Given the description of an element on the screen output the (x, y) to click on. 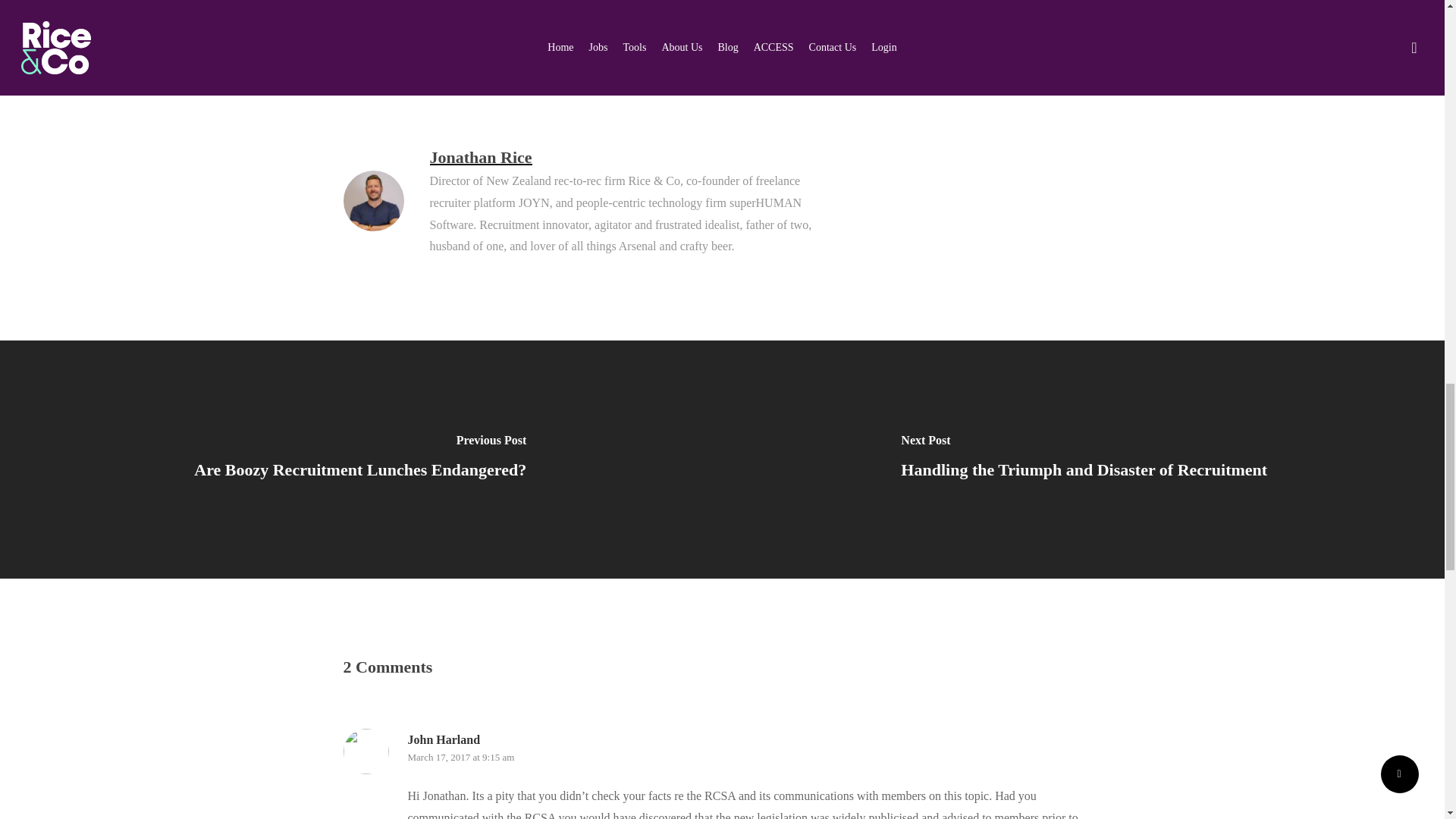
March 17, 2017 at 9:15 am (461, 756)
Jonathan Rice (480, 157)
